Given the description of an element on the screen output the (x, y) to click on. 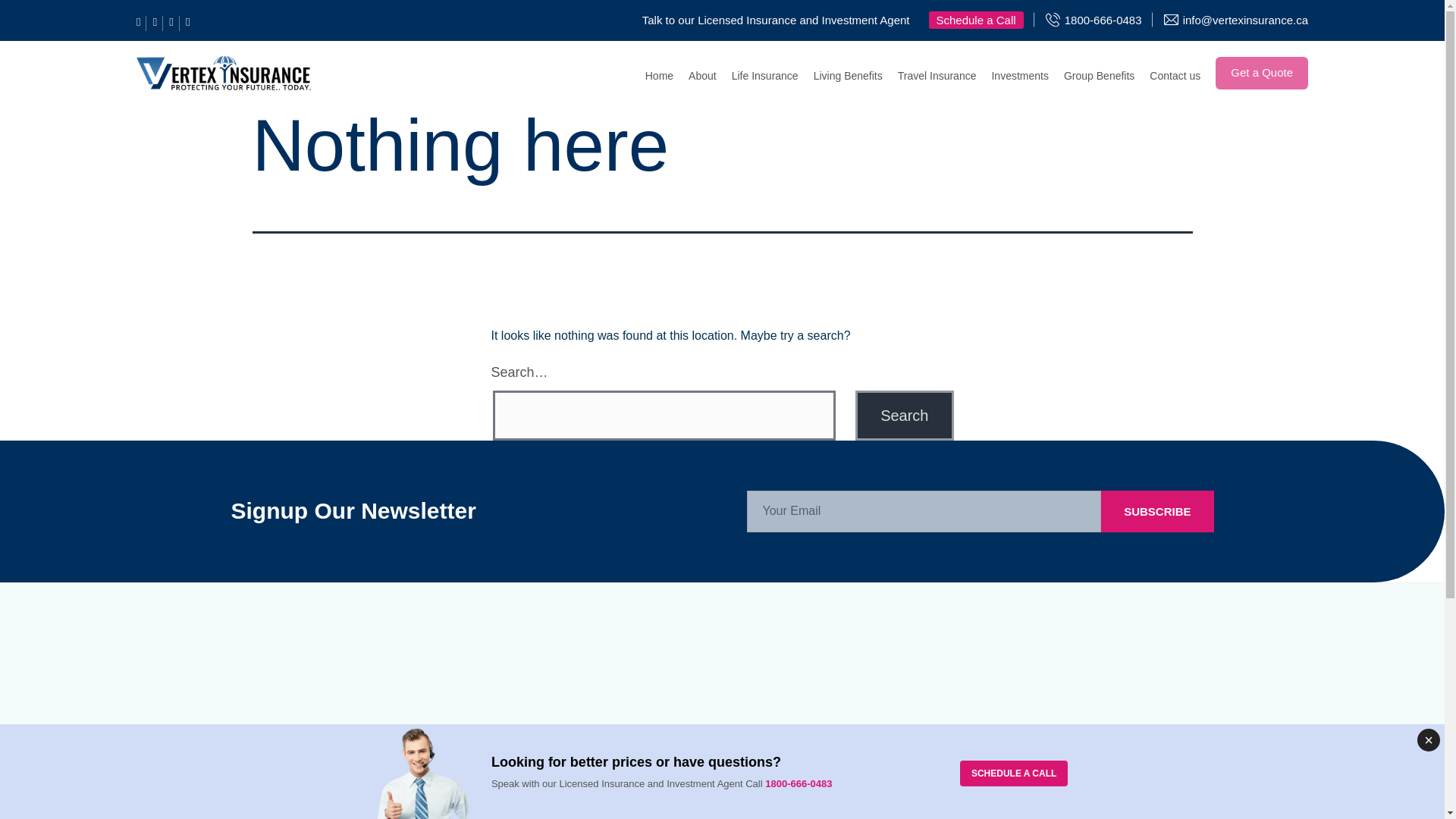
Search (904, 415)
About (702, 73)
Home (658, 73)
1800-666-0483 (1102, 19)
Investments (1019, 73)
Travel Insurance (937, 73)
Schedule a Call (975, 19)
Search (904, 415)
Life Insurance (764, 73)
Subscribe (1156, 511)
Living Benefits (847, 73)
